Given the description of an element on the screen output the (x, y) to click on. 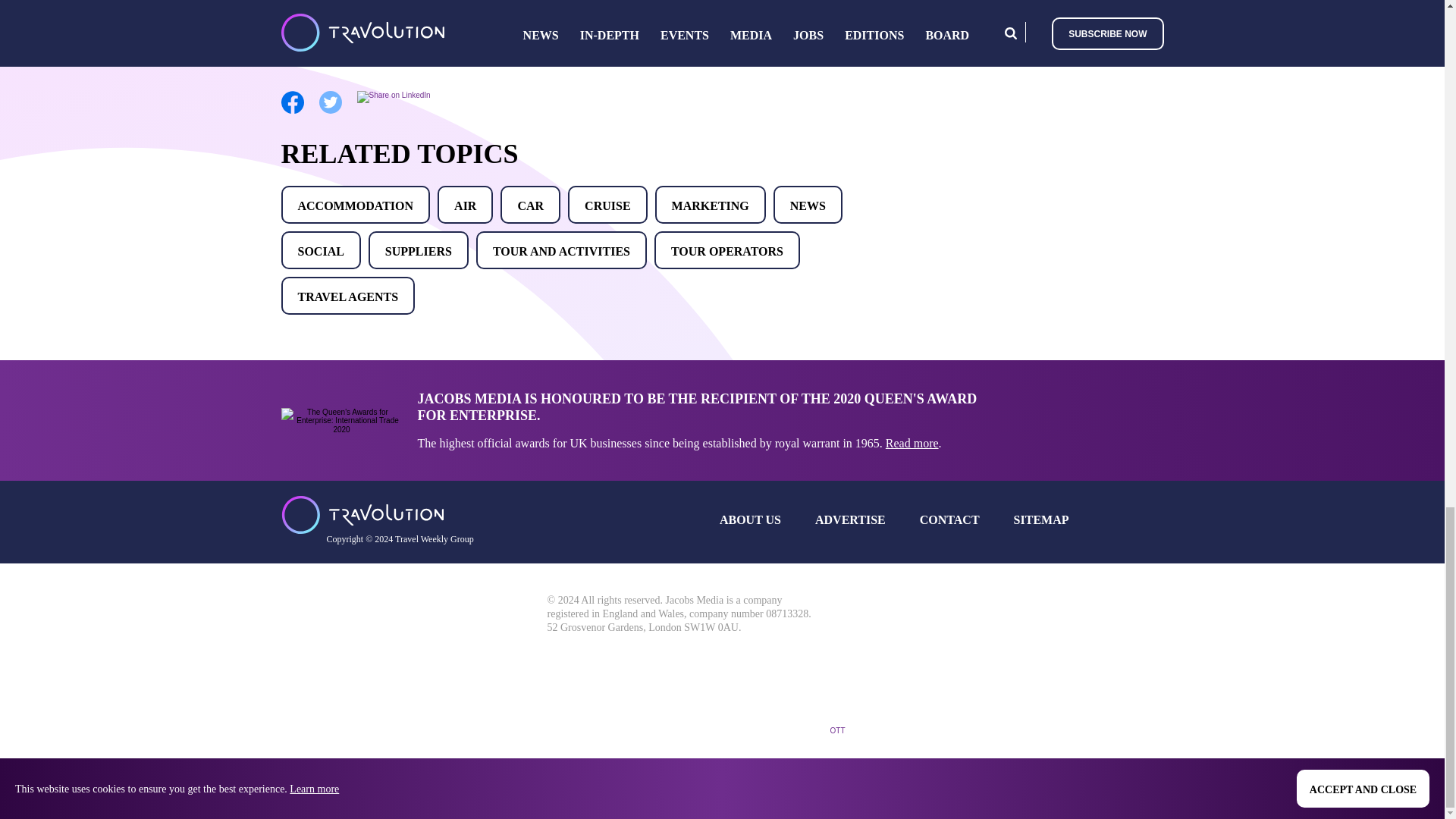
Share on Twitter (329, 111)
Share on LinkedIn (392, 94)
Share on Facebook (291, 111)
AIR (465, 204)
ACCOMMODATION (355, 204)
